Given the description of an element on the screen output the (x, y) to click on. 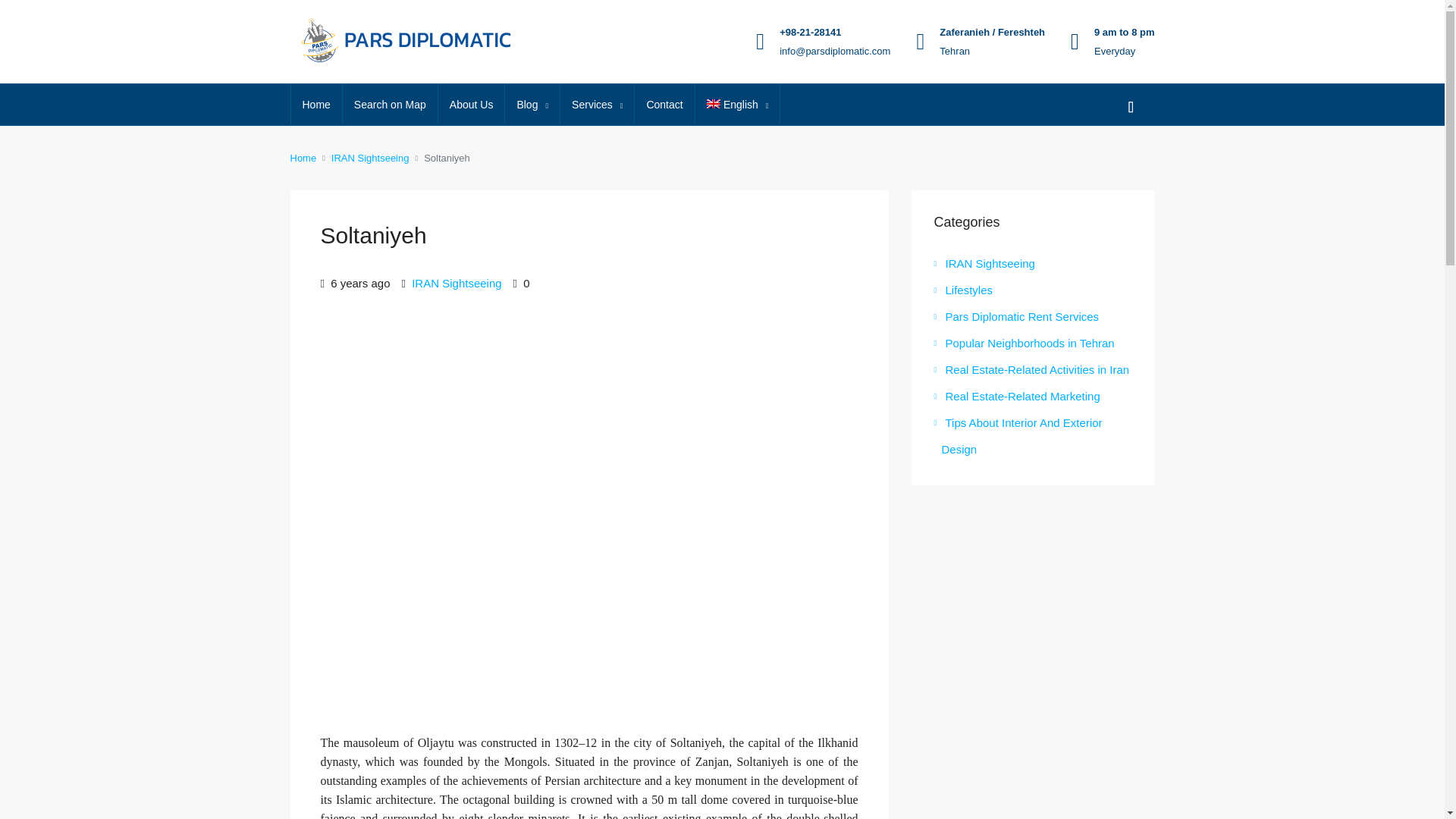
Blog (532, 105)
Search on Map (390, 104)
About Us (471, 104)
English (737, 105)
Contact (664, 104)
Home (316, 104)
English (737, 105)
Services (596, 105)
